Given the description of an element on the screen output the (x, y) to click on. 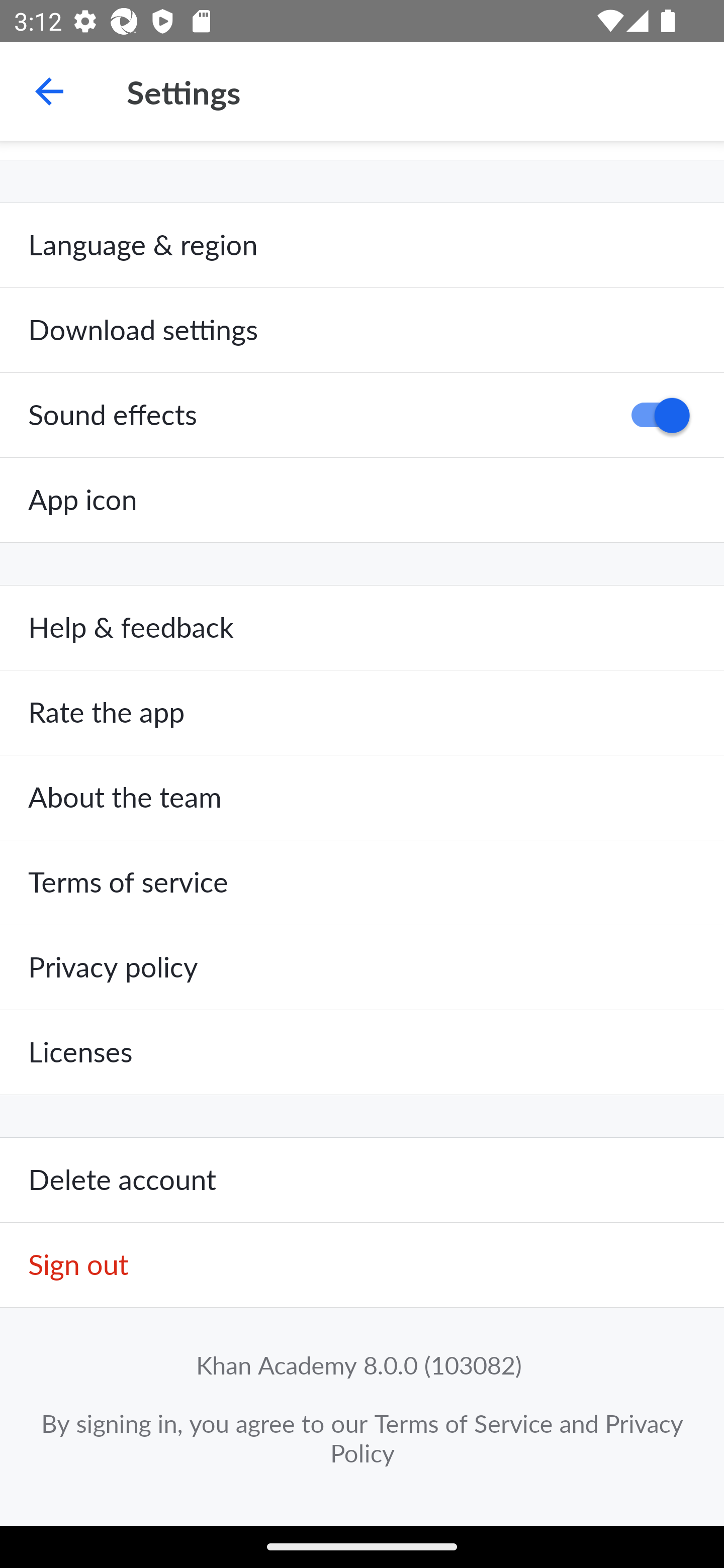
Navigate up (49, 91)
Language & region (362, 245)
Download settings (362, 330)
ON (653, 415)
App icon (362, 499)
Help & feedback (362, 627)
Rate the app (362, 713)
About the team (362, 797)
Terms of service (362, 882)
Privacy policy (362, 967)
Licenses (362, 1051)
Delete account (362, 1180)
Sign out (362, 1265)
